Given the description of an element on the screen output the (x, y) to click on. 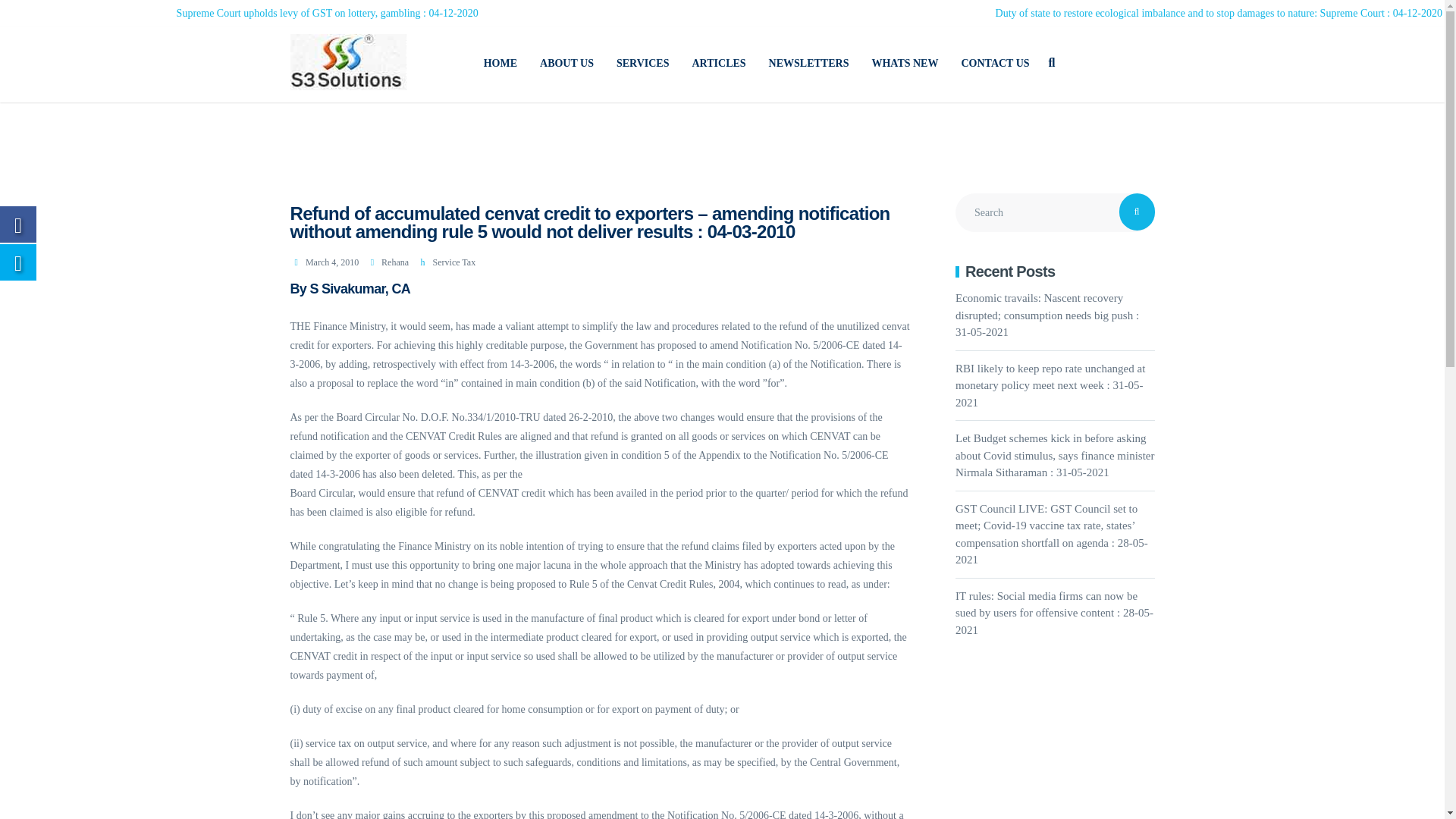
ARTICLES (719, 63)
ABOUT US (566, 63)
HOME (499, 63)
WHATS NEW (904, 63)
SERVICES (643, 63)
NEWSLETTERS (808, 63)
S3 solutions (499, 63)
